Given the description of an element on the screen output the (x, y) to click on. 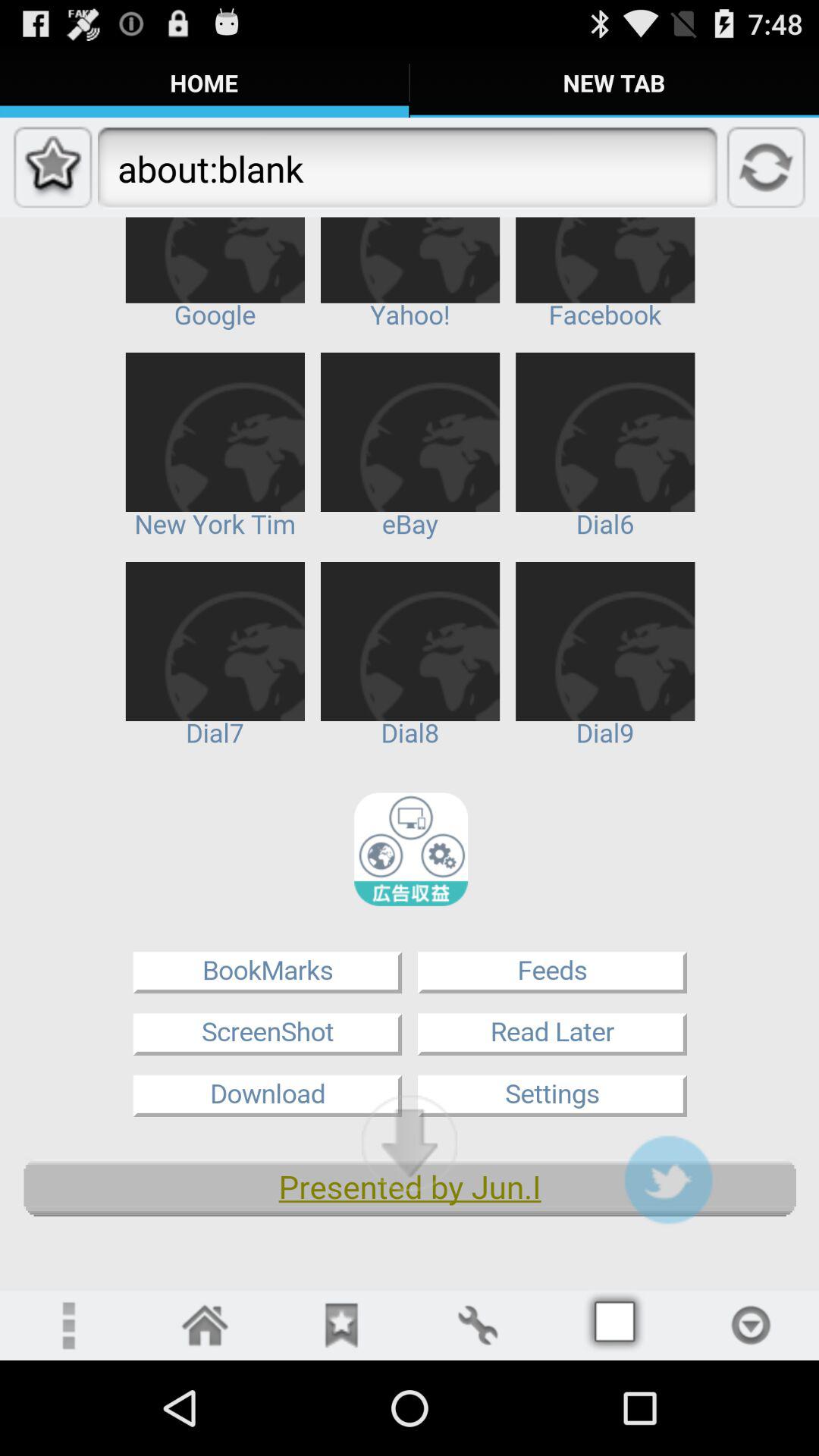
twitter of image (668, 1179)
